Given the description of an element on the screen output the (x, y) to click on. 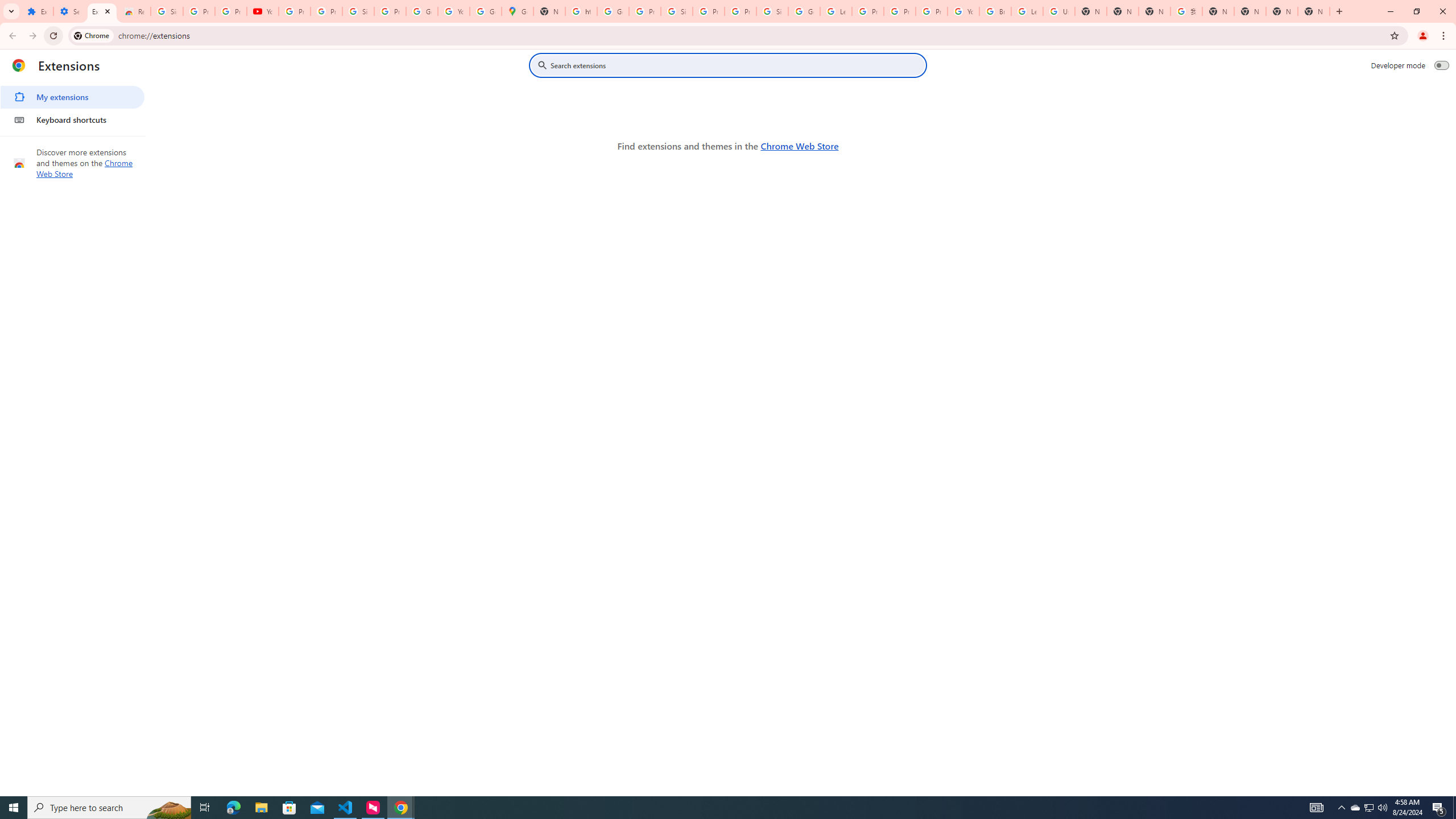
Extensions (101, 11)
Browse Chrome as a guest - Computer - Google Chrome Help (995, 11)
Keyboard shortcuts (72, 119)
Sign in - Google Accounts (358, 11)
YouTube (963, 11)
